Given the description of an element on the screen output the (x, y) to click on. 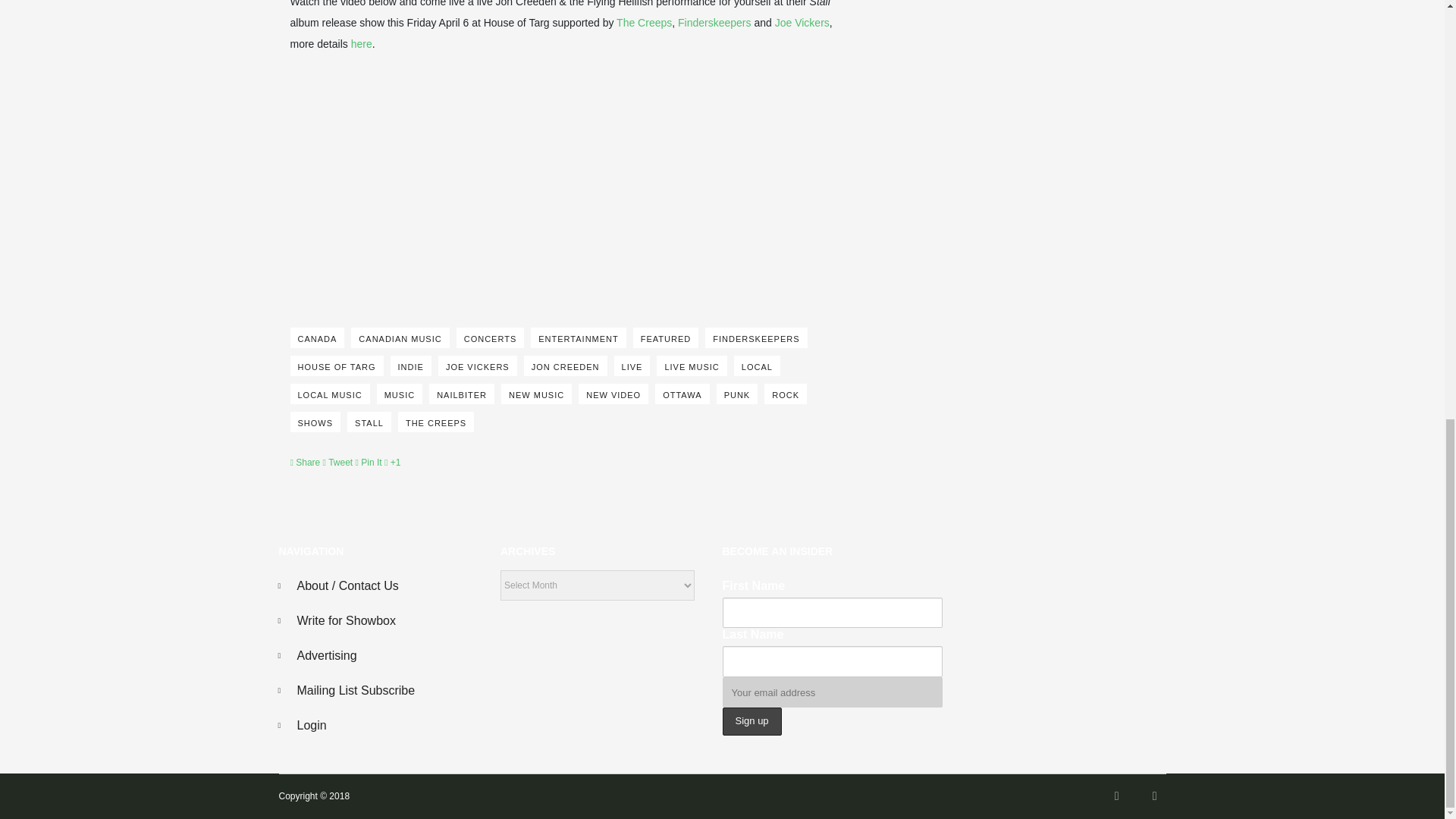
Sign up (751, 721)
